Given the description of an element on the screen output the (x, y) to click on. 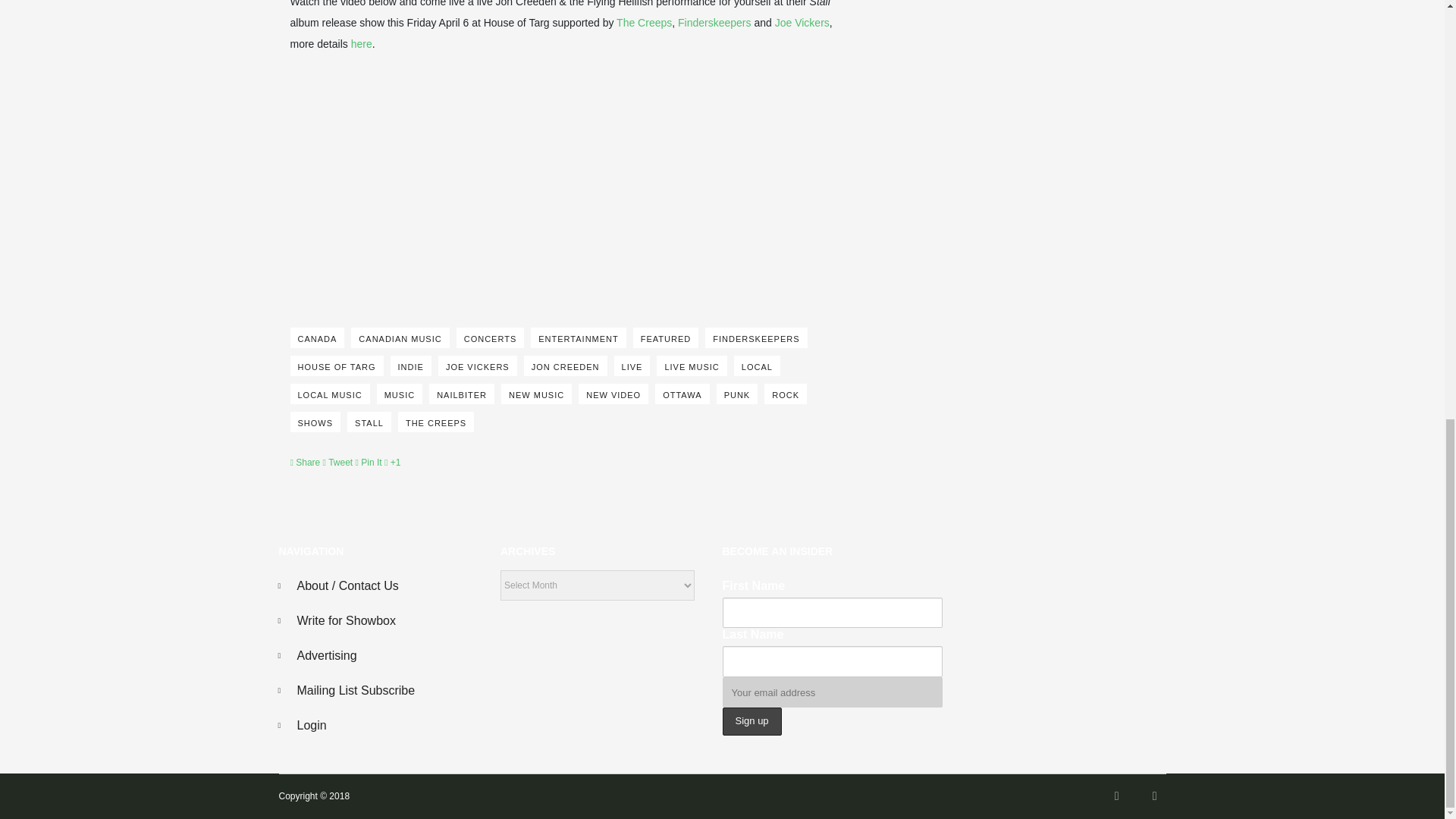
Sign up (751, 721)
